Given the description of an element on the screen output the (x, y) to click on. 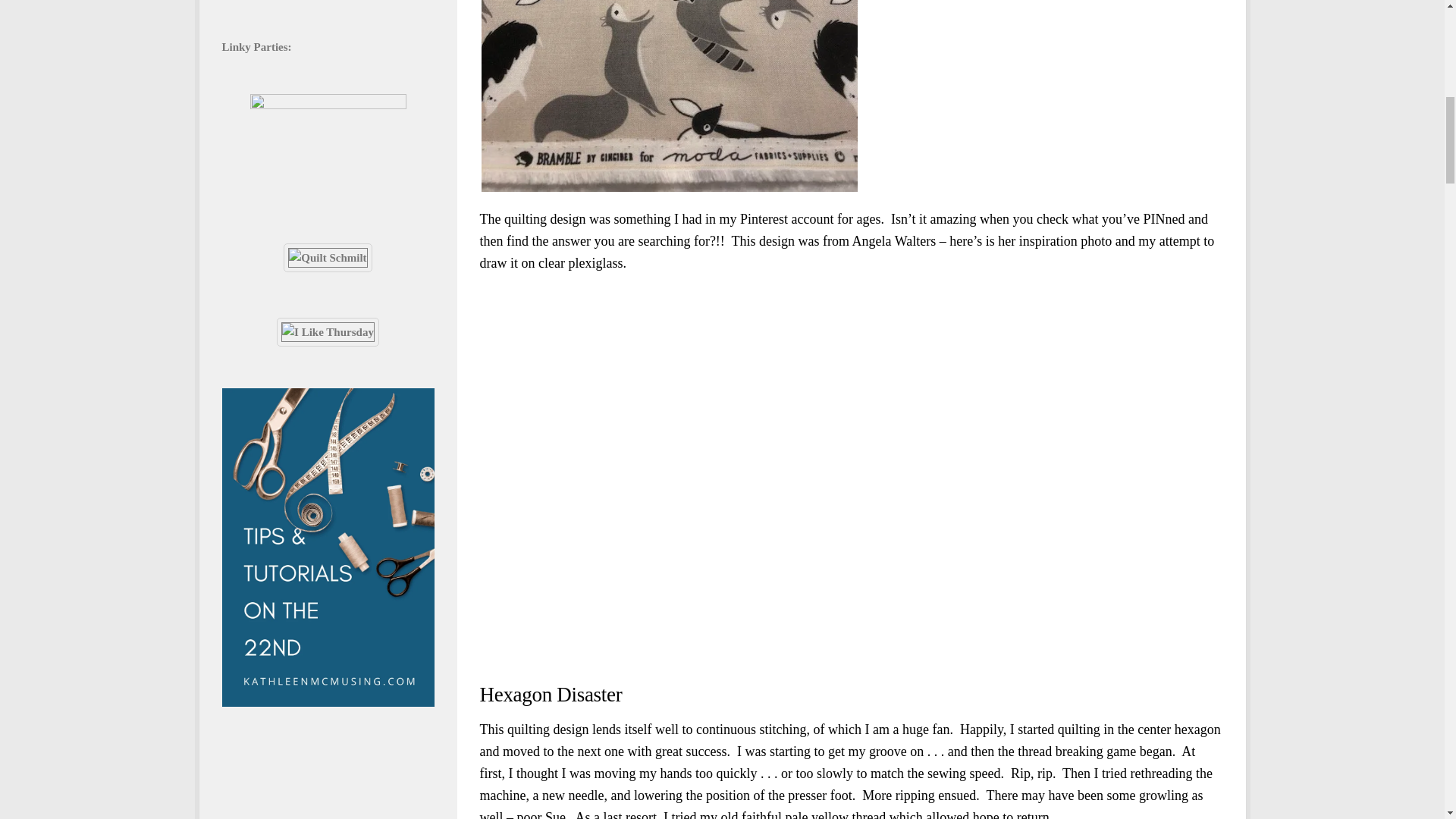
Hexi Bramble (668, 95)
